Given the description of an element on the screen output the (x, y) to click on. 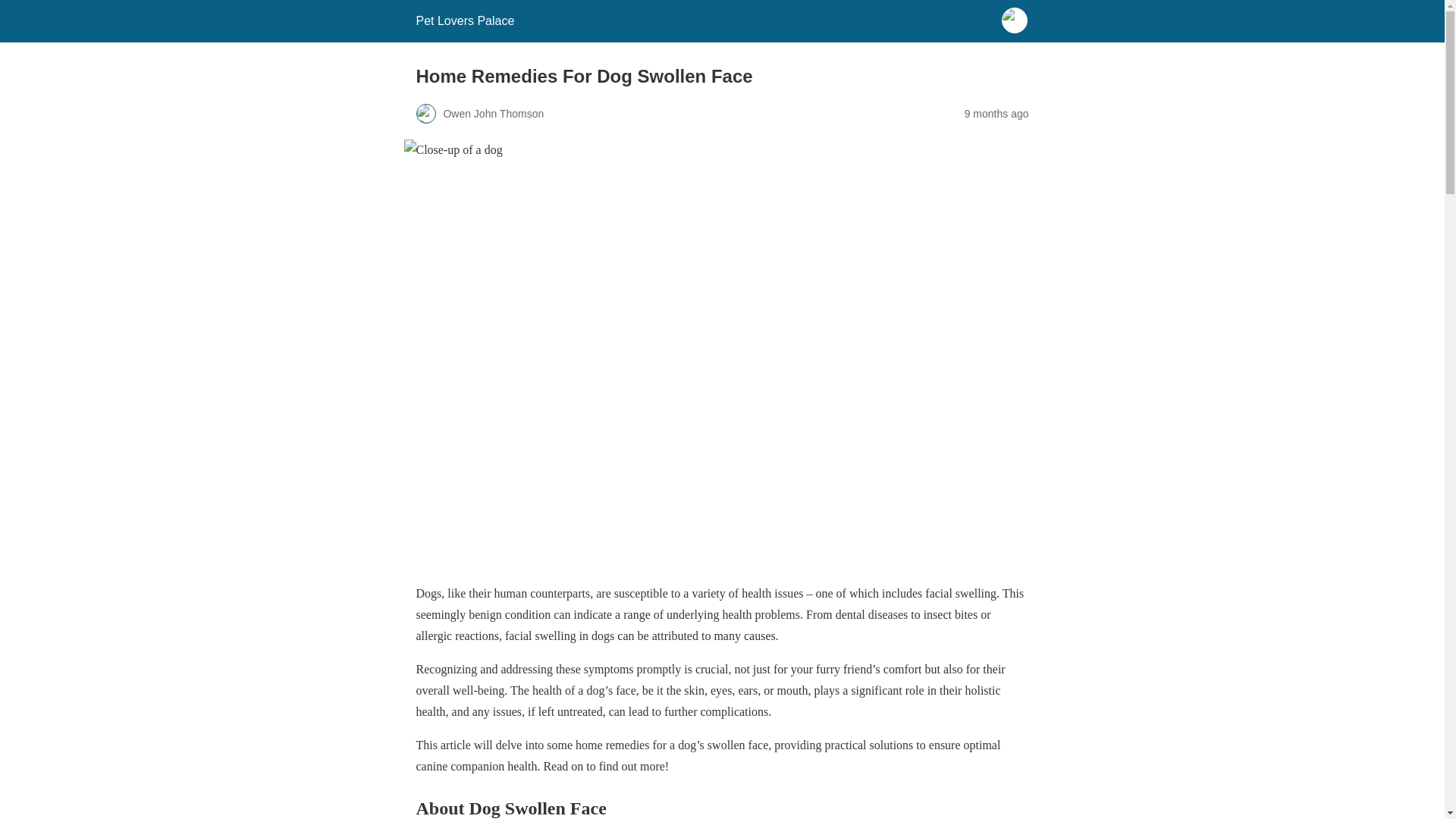
Pet Lovers Palace (463, 20)
